Given the description of an element on the screen output the (x, y) to click on. 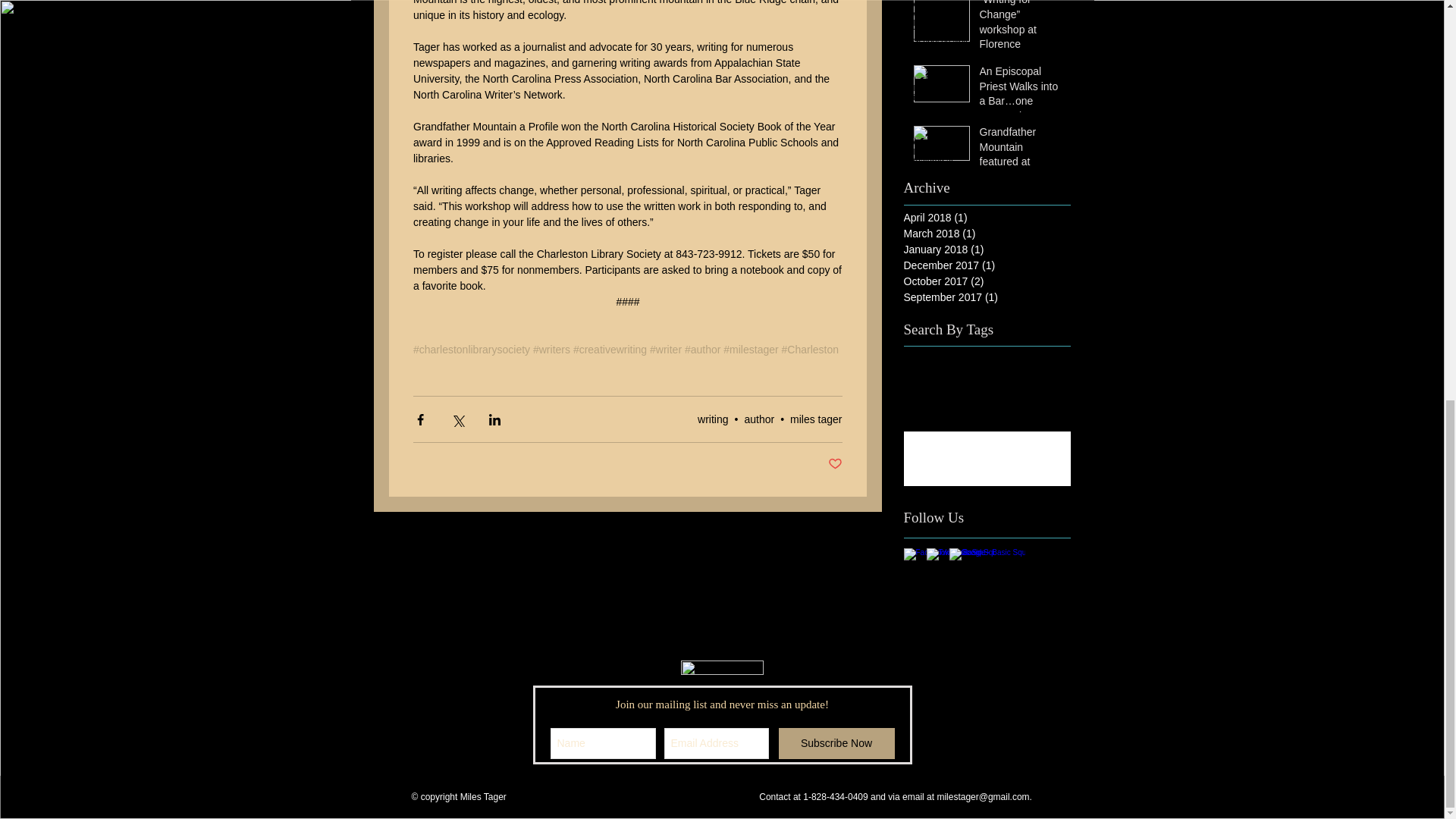
1.png (721, 667)
writing (712, 419)
author (759, 419)
miles tager (815, 419)
Post not marked as liked (835, 464)
